Given the description of an element on the screen output the (x, y) to click on. 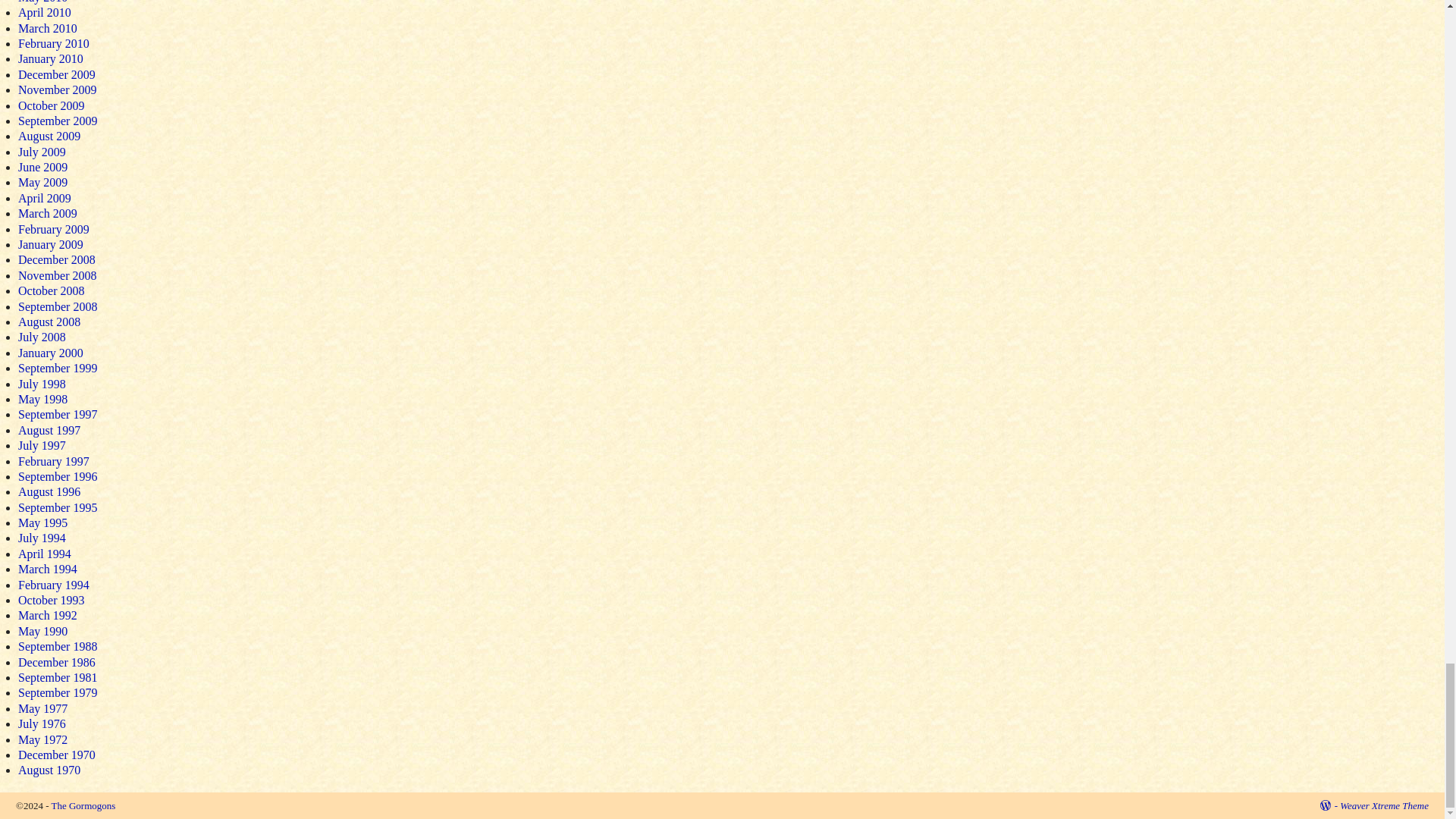
The Gormogons (82, 805)
Proudly powered by WordPress (1329, 805)
Weaver Xtreme Theme (1383, 805)
